Given the description of an element on the screen output the (x, y) to click on. 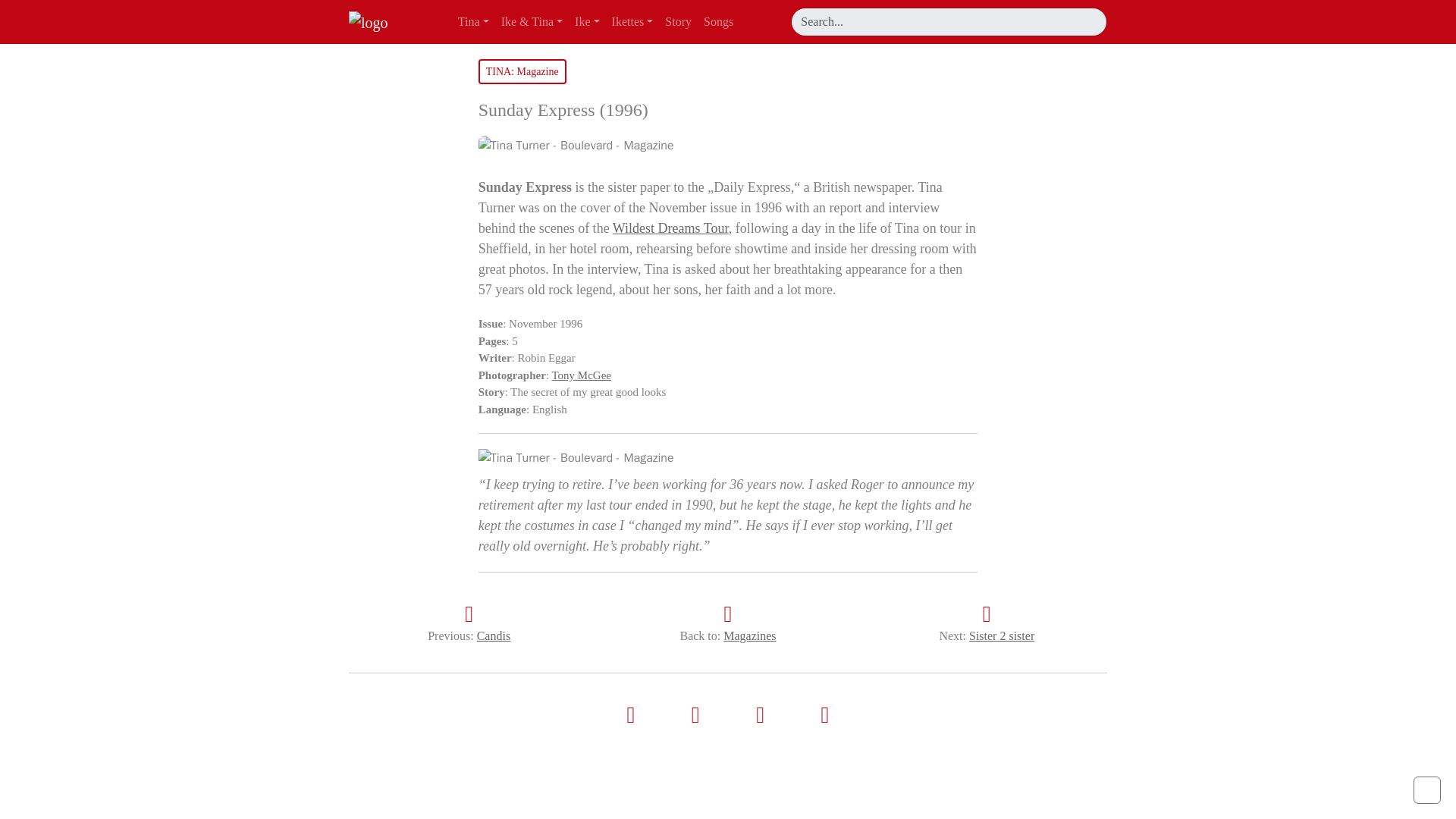
TINA: Magazine (522, 71)
Wildest Dreams Tour (670, 227)
Tony McGee (581, 375)
Songs (718, 21)
Magazines (749, 635)
Ike (587, 21)
Story (678, 21)
Candis (494, 635)
Tina (473, 21)
Ikettes (632, 21)
